Given the description of an element on the screen output the (x, y) to click on. 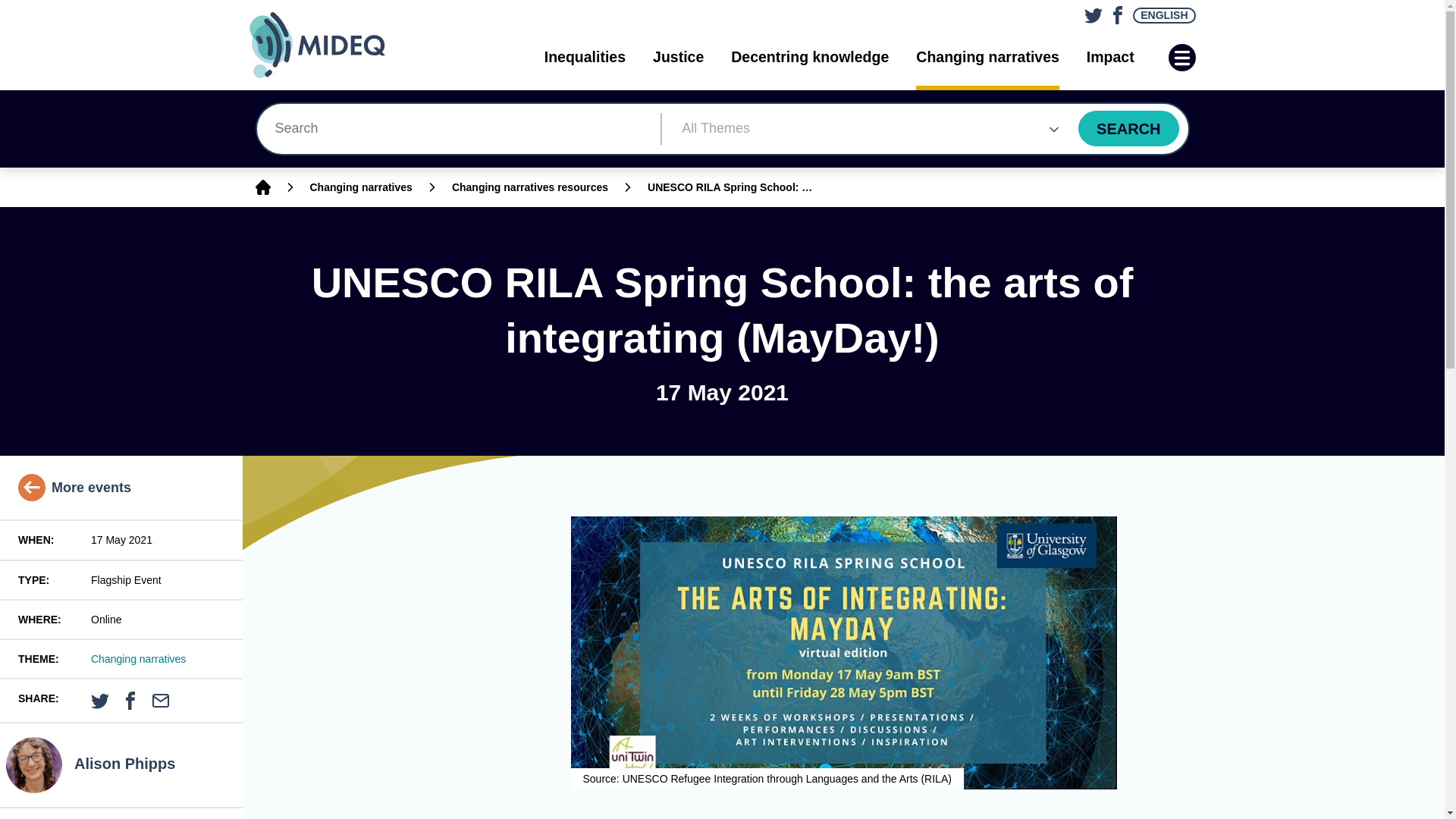
Justice (677, 57)
Inequalities (585, 57)
Changing narratives (360, 187)
More events (74, 487)
Impact (1110, 57)
Facebook (1114, 11)
Changing narratives resources (529, 187)
MIDEQ - Migration for Diversity and Equality (331, 44)
SEARCH (1127, 128)
Changing narratives (138, 658)
